Given the description of an element on the screen output the (x, y) to click on. 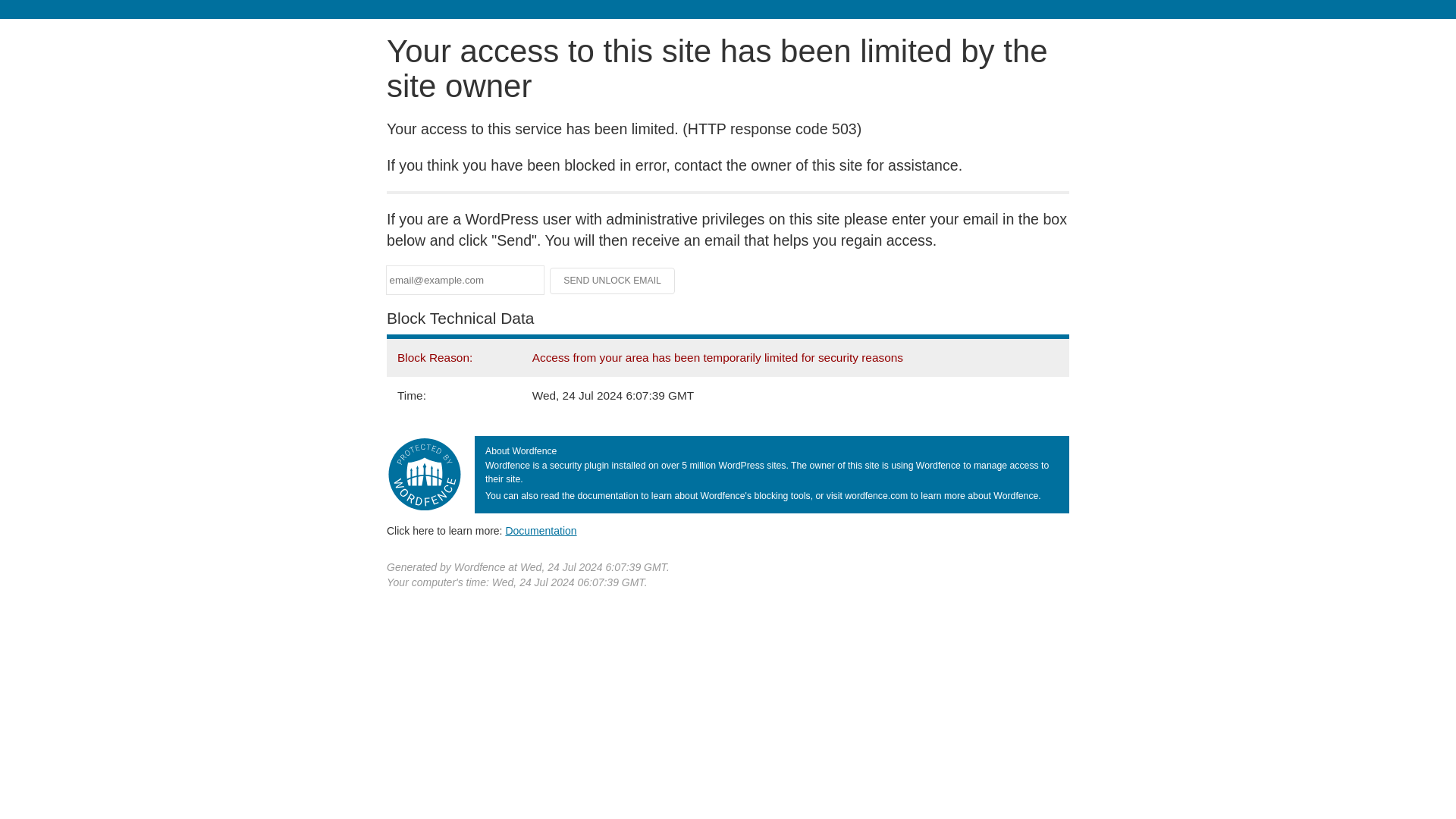
Send Unlock Email (612, 280)
Send Unlock Email (612, 280)
